Given the description of an element on the screen output the (x, y) to click on. 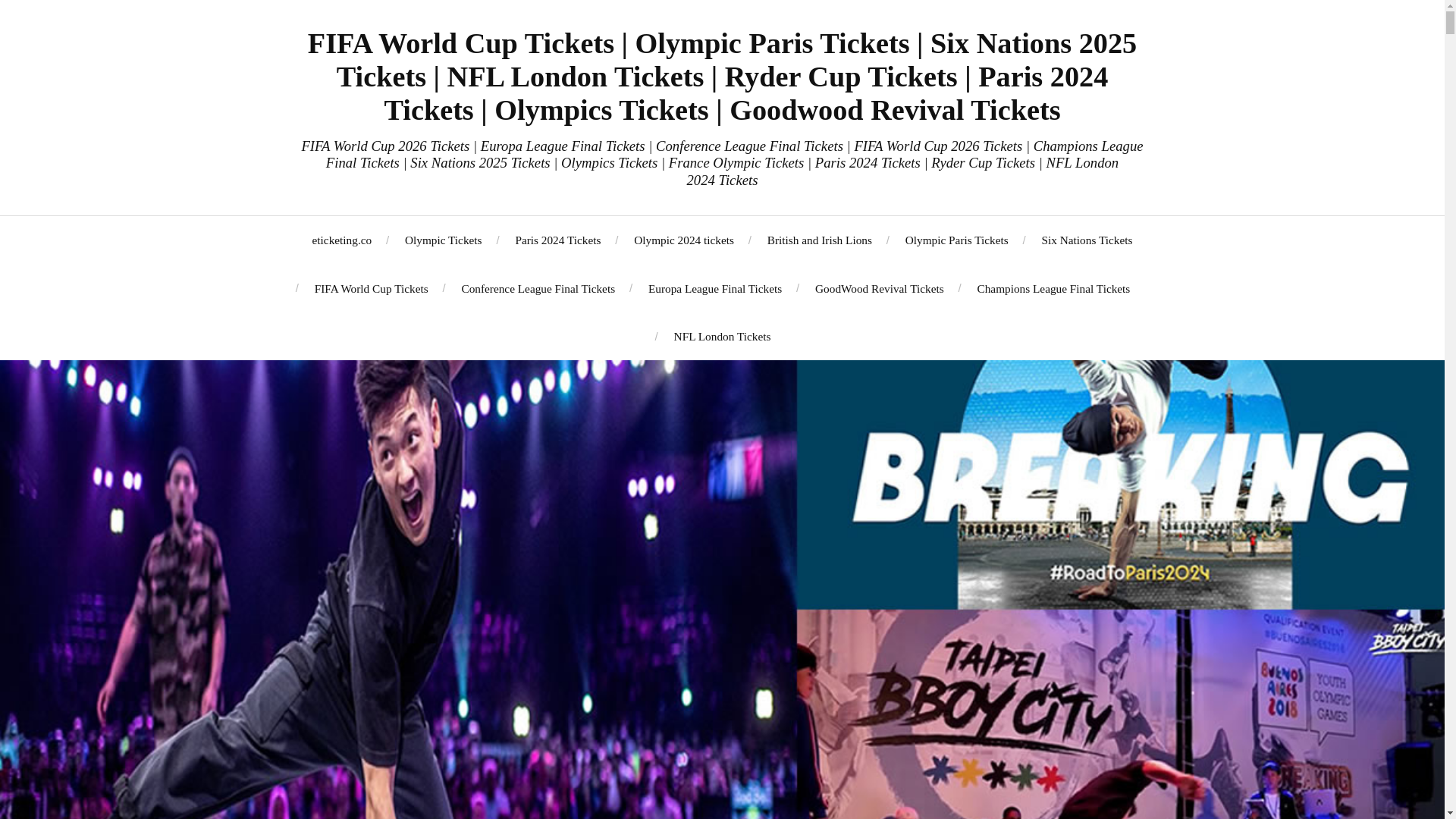
eticketing.co (342, 239)
Paris 2024 Tickets (557, 239)
Olympic Tickets (442, 239)
Six Nations Tickets (1087, 239)
Olympic Paris Tickets (957, 239)
Conference League Final Tickets (537, 288)
Olympic 2024 tickets (683, 239)
NFL London Tickets (722, 336)
GoodWood Revival Tickets (879, 288)
Europa League Final Tickets (714, 288)
FIFA World Cup Tickets (371, 288)
Champions League Final Tickets (1052, 288)
British and Irish Lions (819, 239)
